Given the description of an element on the screen output the (x, y) to click on. 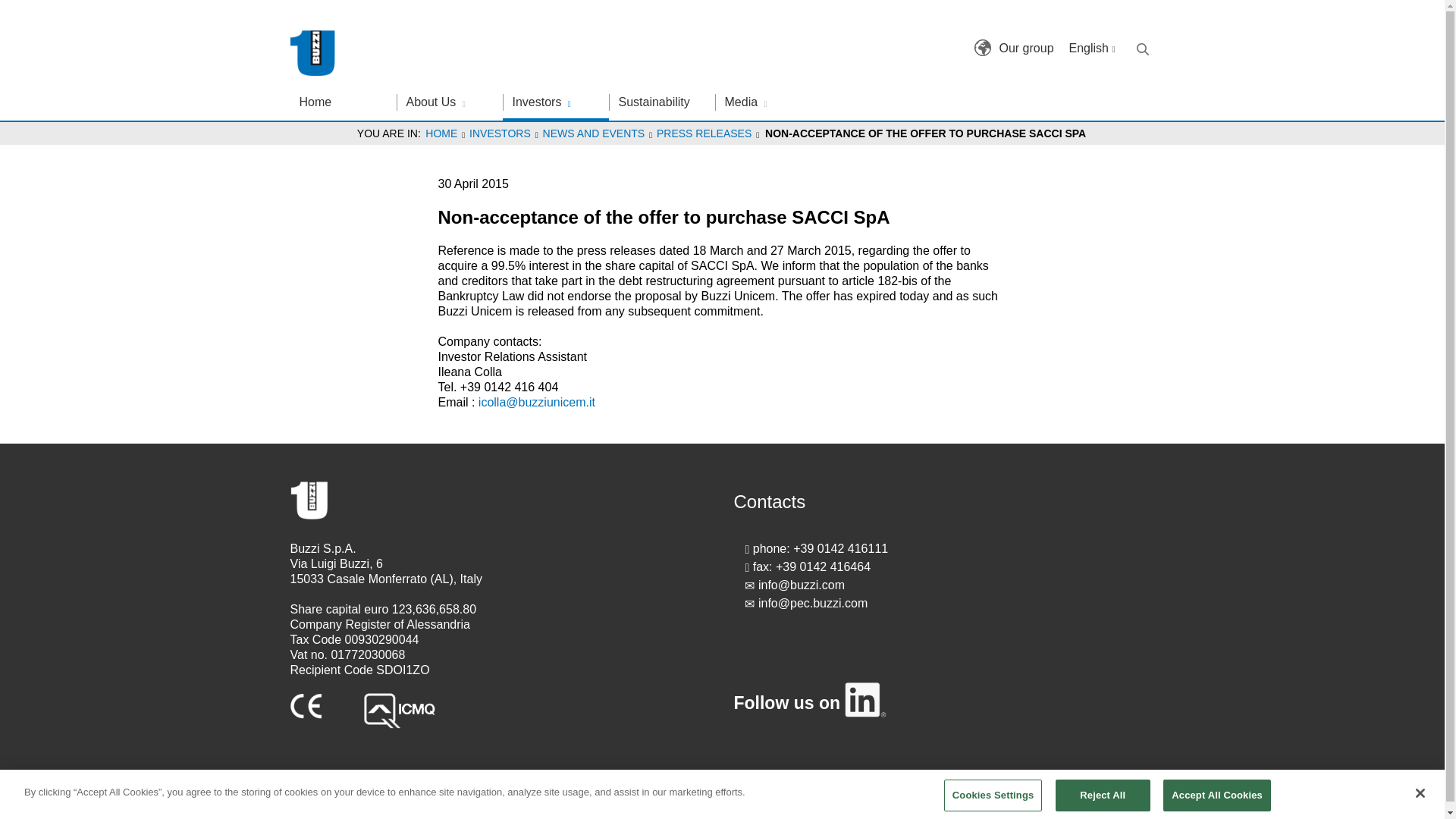
EN (1091, 47)
keywords (1141, 48)
About Us (449, 102)
Our group (1025, 48)
About Us (449, 102)
Our group (982, 47)
Home (342, 102)
Investors (555, 102)
Home (342, 102)
Our group (1025, 48)
Go to Buzzi SpA (313, 53)
English (1091, 47)
